Given the description of an element on the screen output the (x, y) to click on. 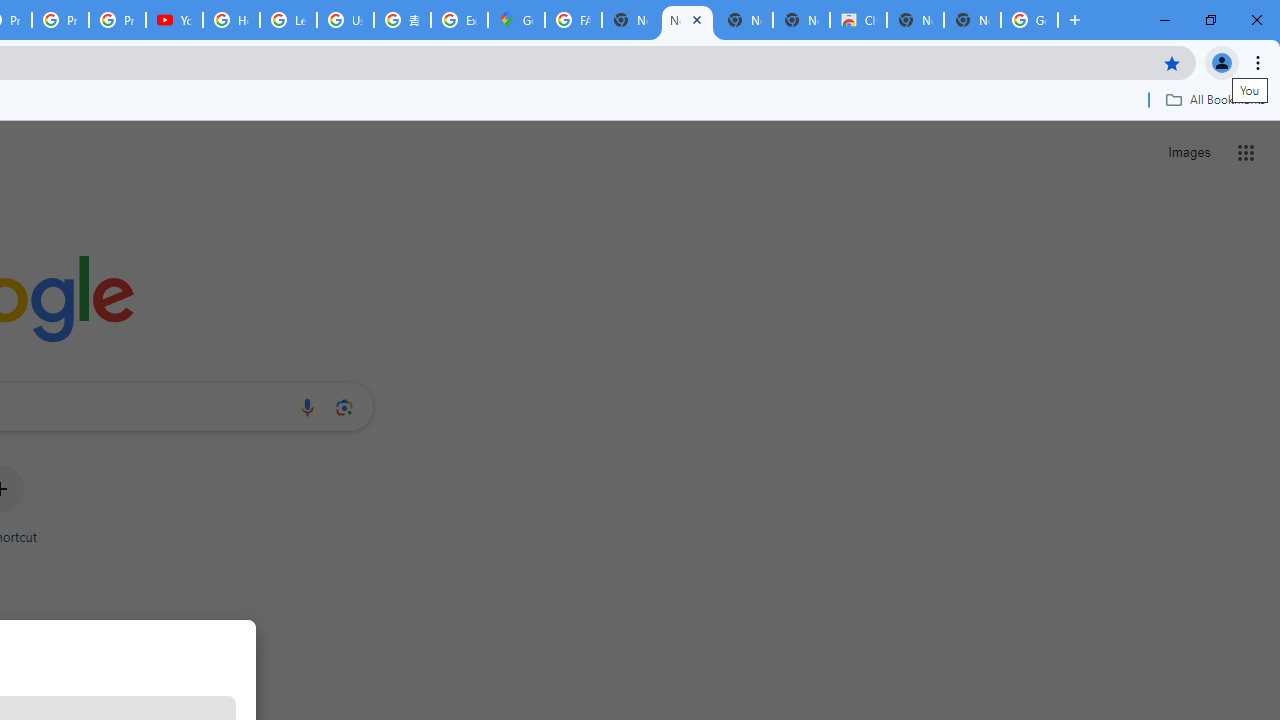
How Chrome protects your passwords - Google Chrome Help (231, 20)
Chrome Web Store (858, 20)
Google Maps (516, 20)
